Given the description of an element on the screen output the (x, y) to click on. 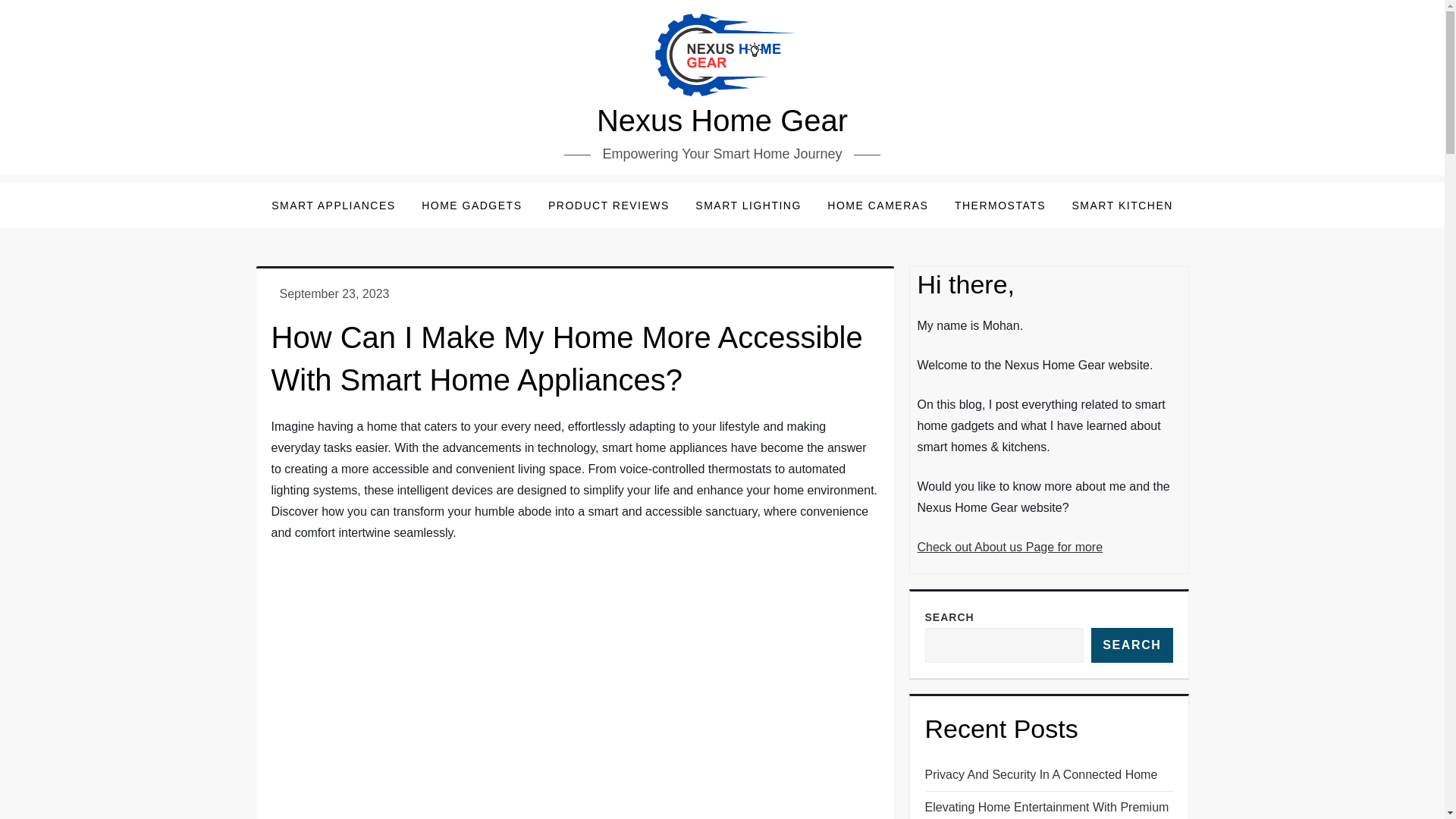
SMART LIGHTING (748, 205)
SMART KITCHEN (1123, 205)
HOME GADGETS (471, 205)
THERMOSTATS (1000, 205)
Privacy And Security In A Connected Home (1040, 774)
SMART APPLIANCES (333, 205)
HOME CAMERAS (877, 205)
Nexus Home Gear (721, 120)
Check out About us Page for more (1010, 546)
PRODUCT REVIEWS (609, 205)
